Given the description of an element on the screen output the (x, y) to click on. 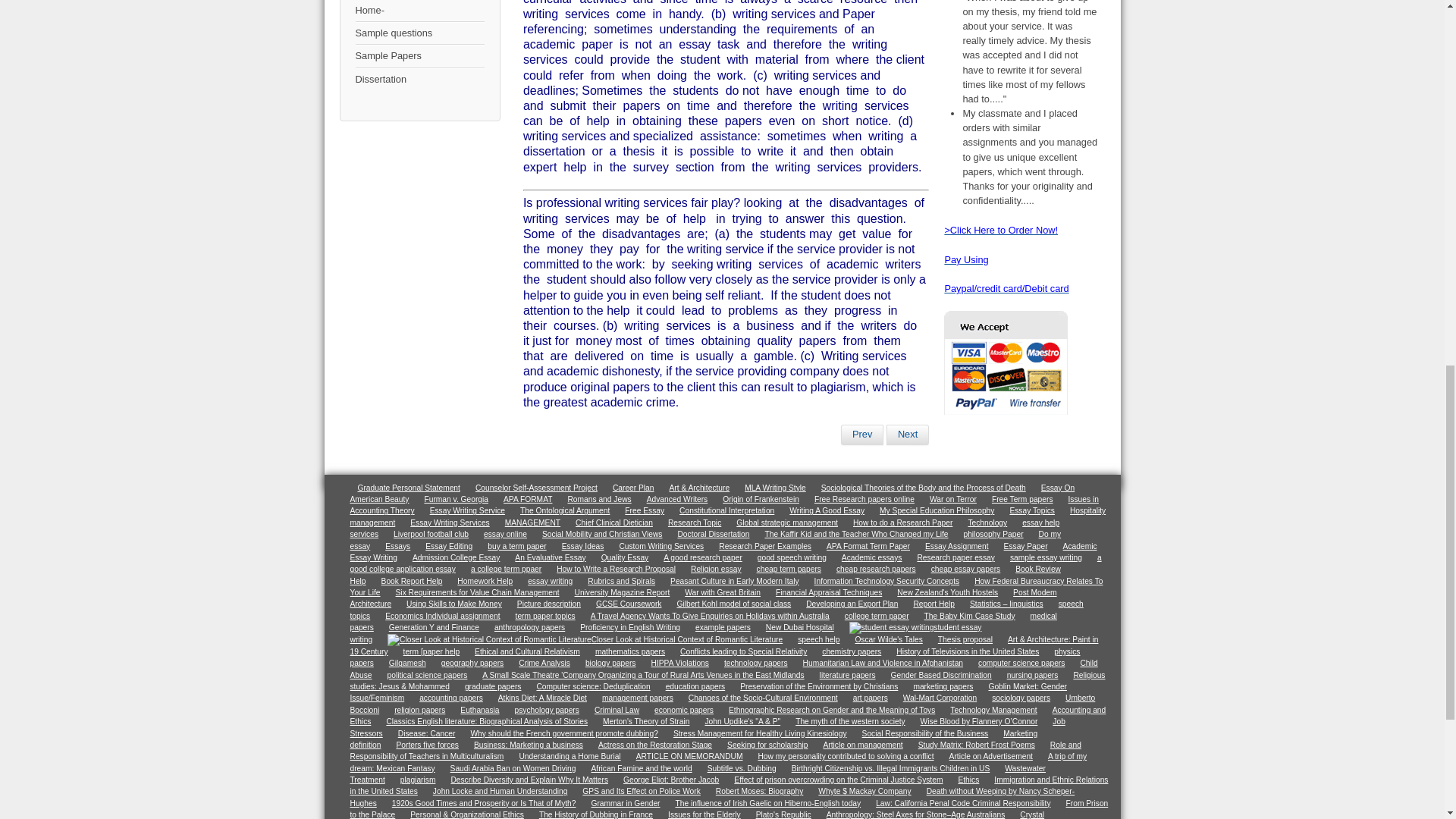
Pay Using (965, 259)
Prev (862, 434)
Next (907, 434)
order (1005, 410)
order (1005, 288)
order (1000, 229)
Home- (419, 11)
Dissertation (419, 78)
order (965, 259)
Sample questions (419, 33)
Sample Papers (419, 56)
